Given the description of an element on the screen output the (x, y) to click on. 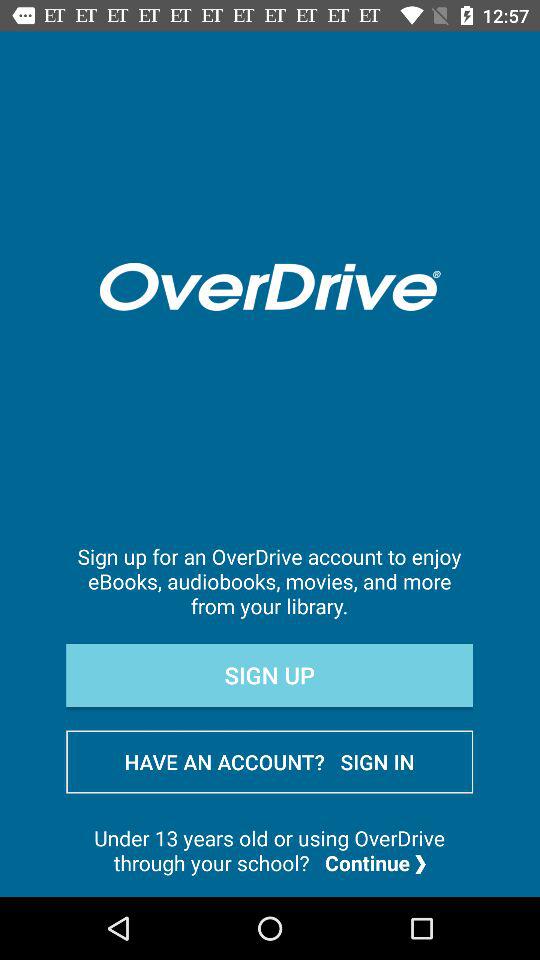
tap under 13 years item (269, 850)
